Given the description of an element on the screen output the (x, y) to click on. 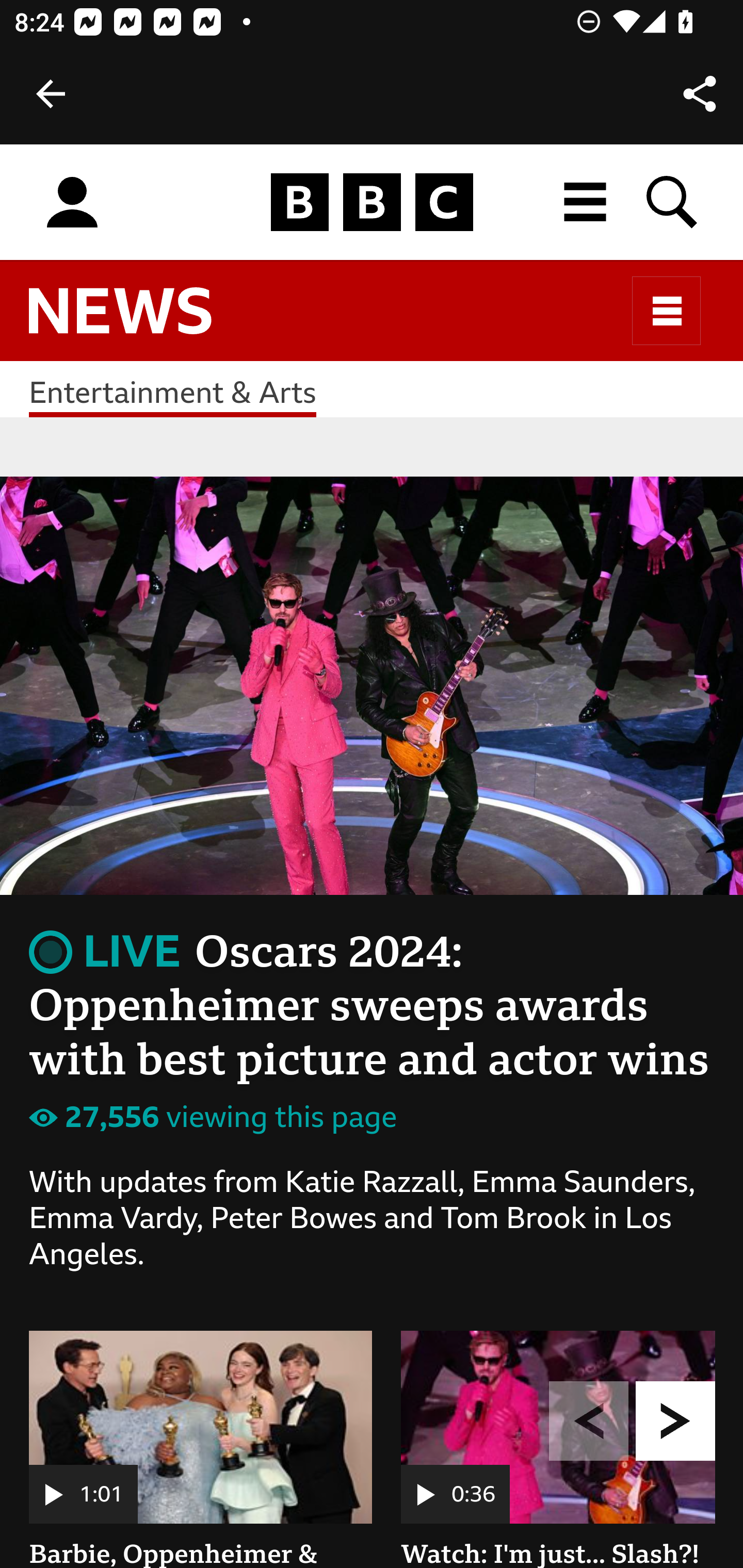
Back (50, 93)
Share (699, 93)
All BBC destinations menu (585, 202)
Search BBC (672, 202)
Sign in (71, 203)
Homepage (371, 203)
Sections (667, 310)
BBC News (136, 319)
previous (589, 1420)
next (676, 1420)
